Given the description of an element on the screen output the (x, y) to click on. 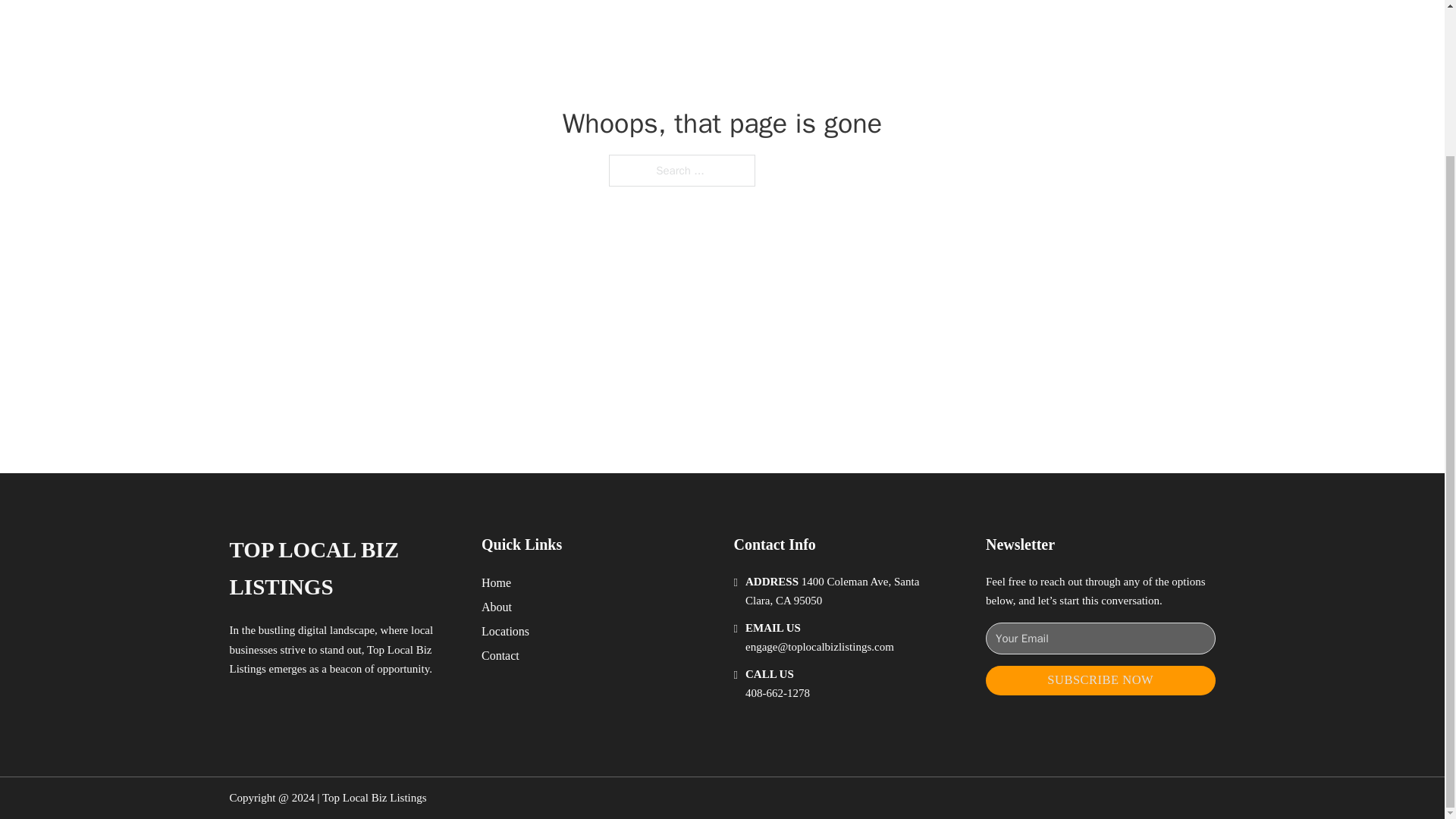
Home (496, 582)
408-662-1278 (777, 693)
Locations (505, 630)
SUBSCRIBE NOW (1100, 680)
TOP LOCAL BIZ LISTINGS (343, 568)
About (496, 607)
Contact (500, 655)
